Given the description of an element on the screen output the (x, y) to click on. 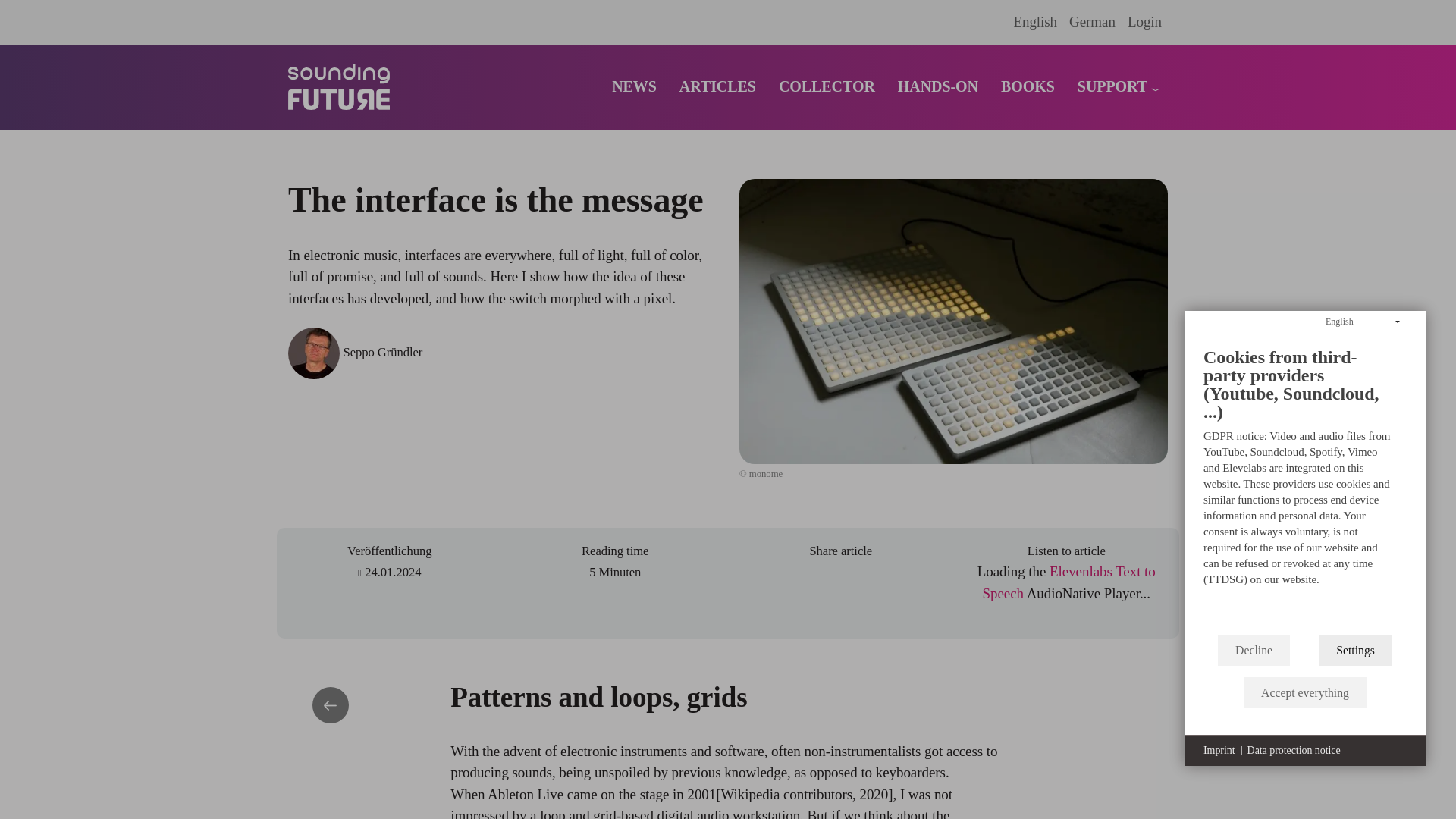
Login (1144, 21)
Book collection (1027, 86)
ARTICLES (717, 86)
German (1091, 21)
Elevenlabs Text to Speech (1067, 582)
Share to Email (826, 578)
Home (344, 86)
BOOKS (1027, 86)
Login (1144, 21)
Wednesday, January 24, 2024 - 09:00 (392, 572)
